Given the description of an element on the screen output the (x, y) to click on. 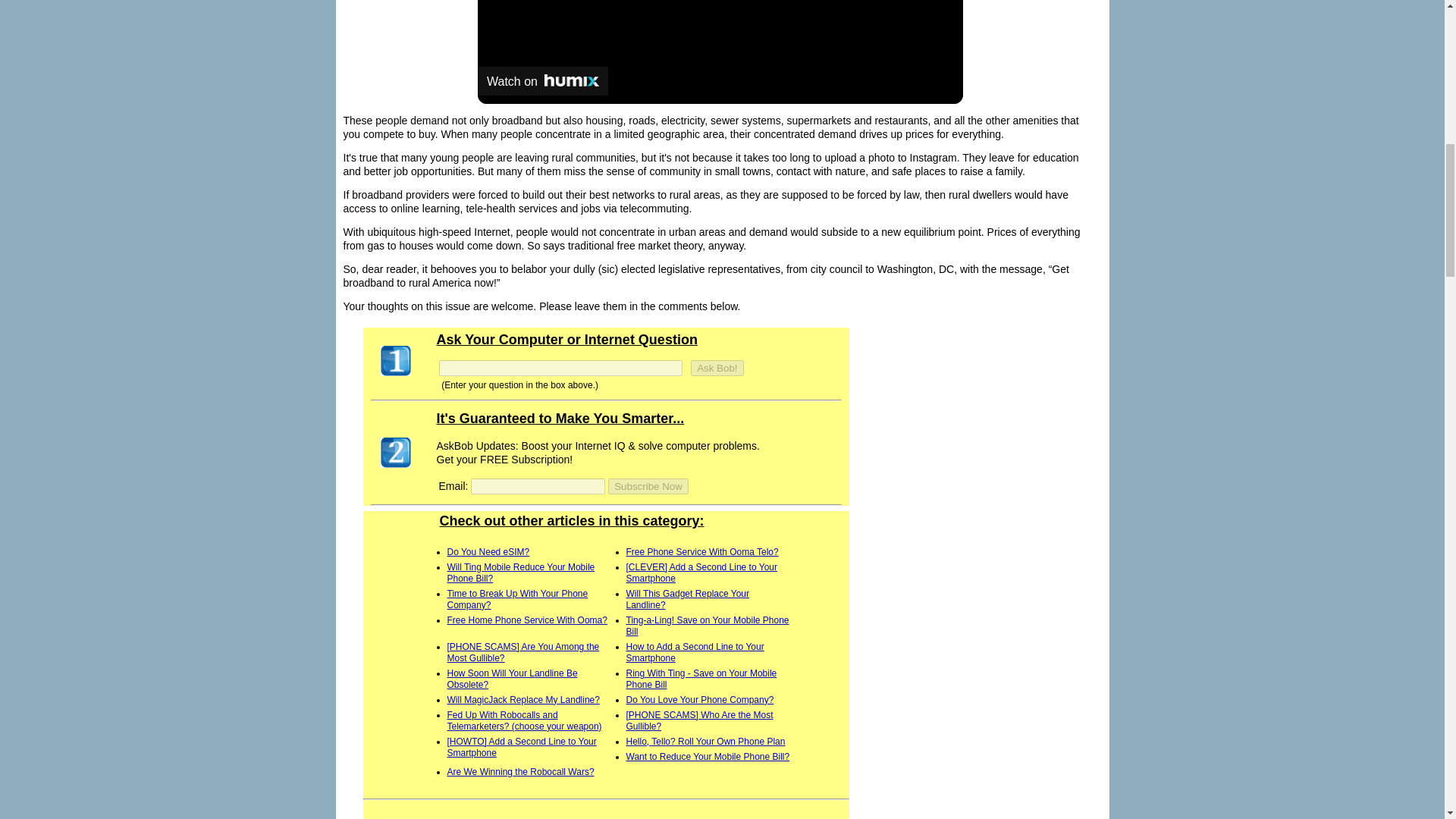
Subscribe Now (648, 486)
Subscribe Now (648, 486)
Watch on (542, 80)
Do You Need eSIM? (487, 552)
How to Add a Second Line to Your Smartphone (695, 652)
How Soon Will Your Landline Be Obsolete? (512, 679)
Will Ting Mobile Reduce Your Mobile Phone Bill? (520, 572)
Ask Bob! (716, 367)
Free Home Phone Service With Ooma? (526, 620)
Will MagicJack Replace My Landline? (522, 699)
Will This Gadget Replace Your Landline? (687, 599)
Ask Bob! (716, 367)
Time to Break Up With Your Phone Company? (517, 599)
